Given the description of an element on the screen output the (x, y) to click on. 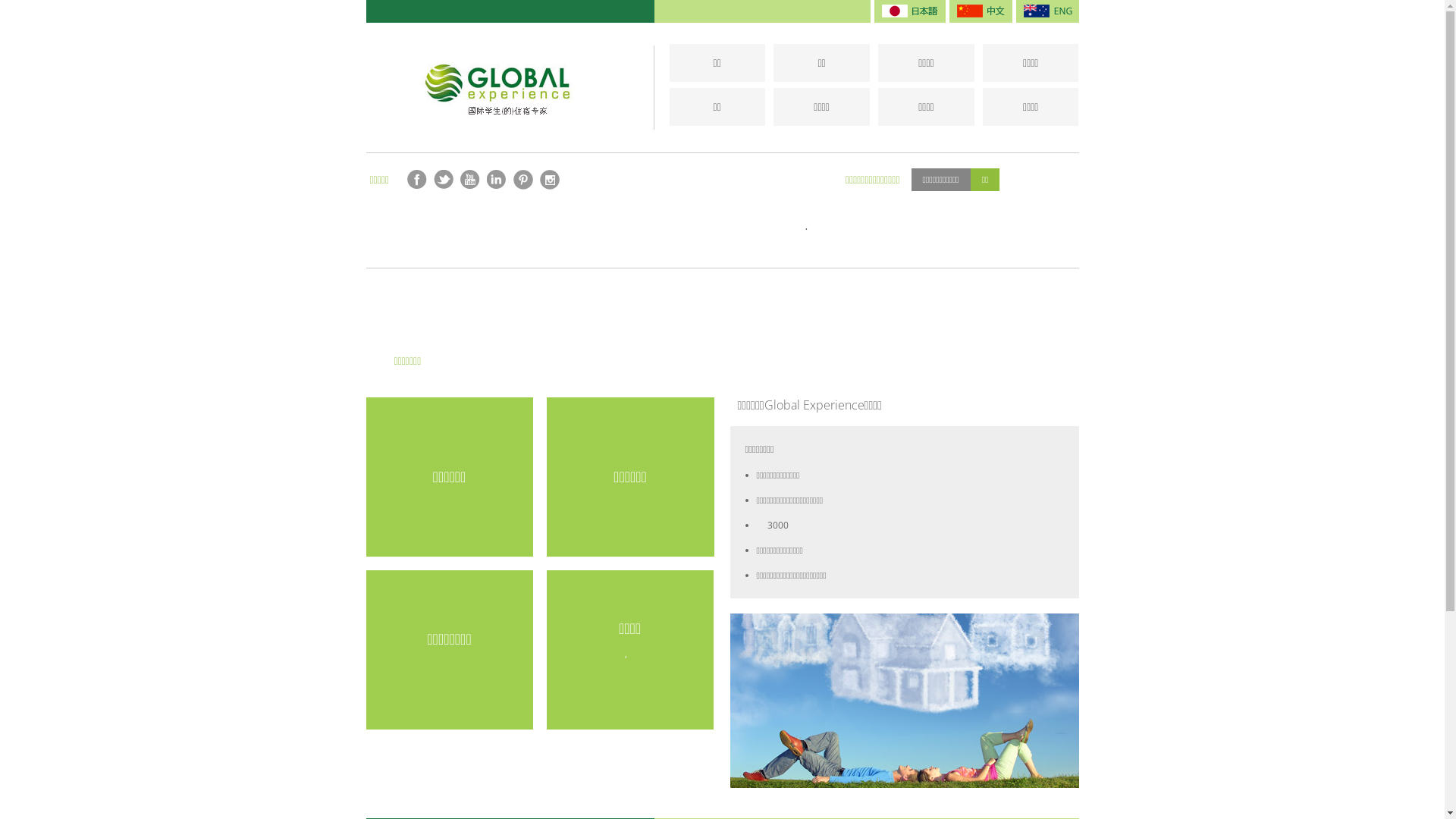
Home Element type: hover (509, 87)
